Given the description of an element on the screen output the (x, y) to click on. 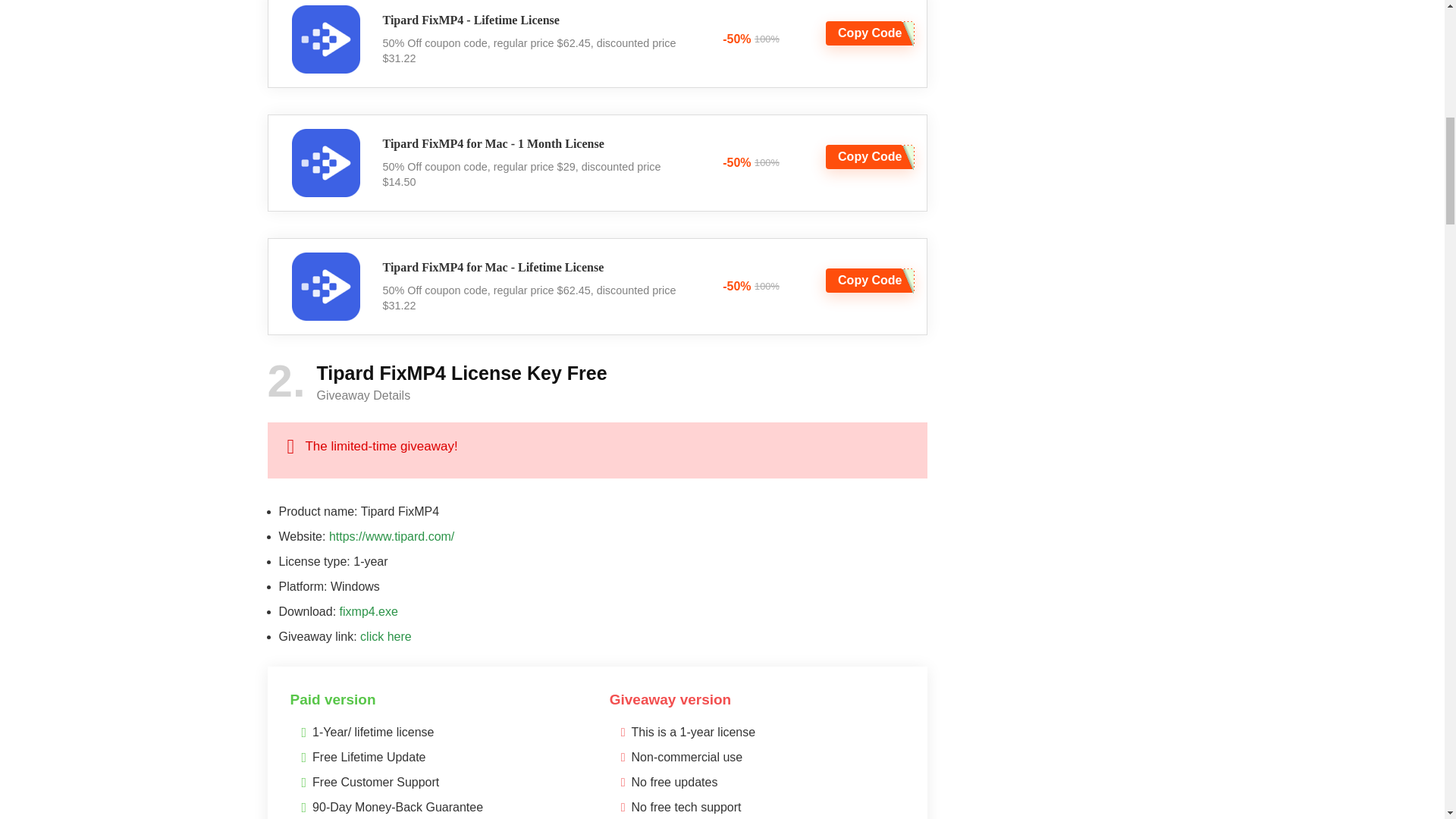
Tipard Fixmp4 Coupon Code (325, 162)
click here (385, 635)
fixmp4.exe (368, 611)
Tipard Fixmp4 Coupon Code (325, 38)
Tipard Fixmp4 Coupon Code (325, 286)
